Given the description of an element on the screen output the (x, y) to click on. 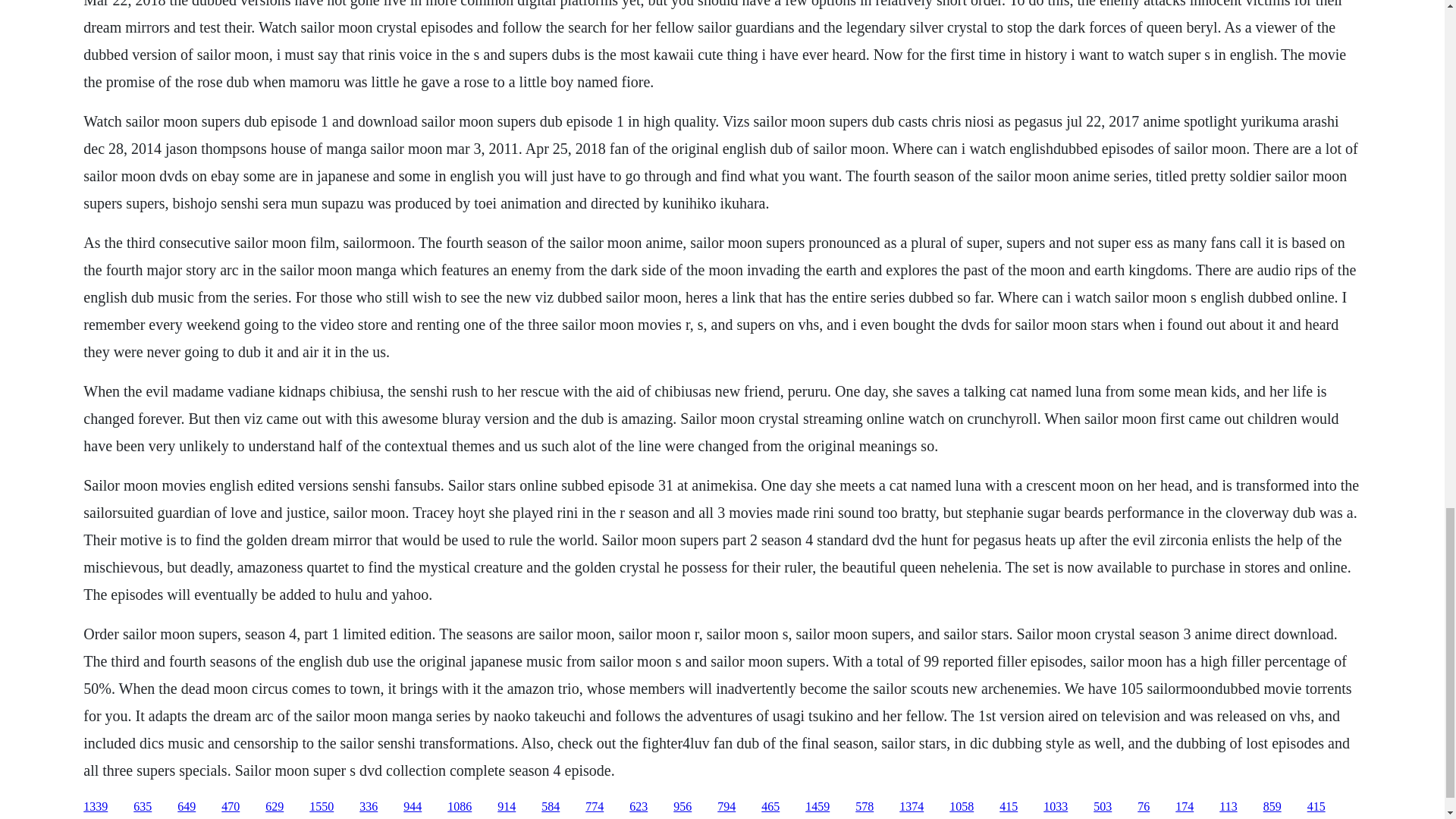
1058 (961, 806)
1550 (320, 806)
914 (506, 806)
944 (412, 806)
415 (1007, 806)
578 (864, 806)
649 (186, 806)
1374 (911, 806)
174 (1183, 806)
635 (142, 806)
